Given the description of an element on the screen output the (x, y) to click on. 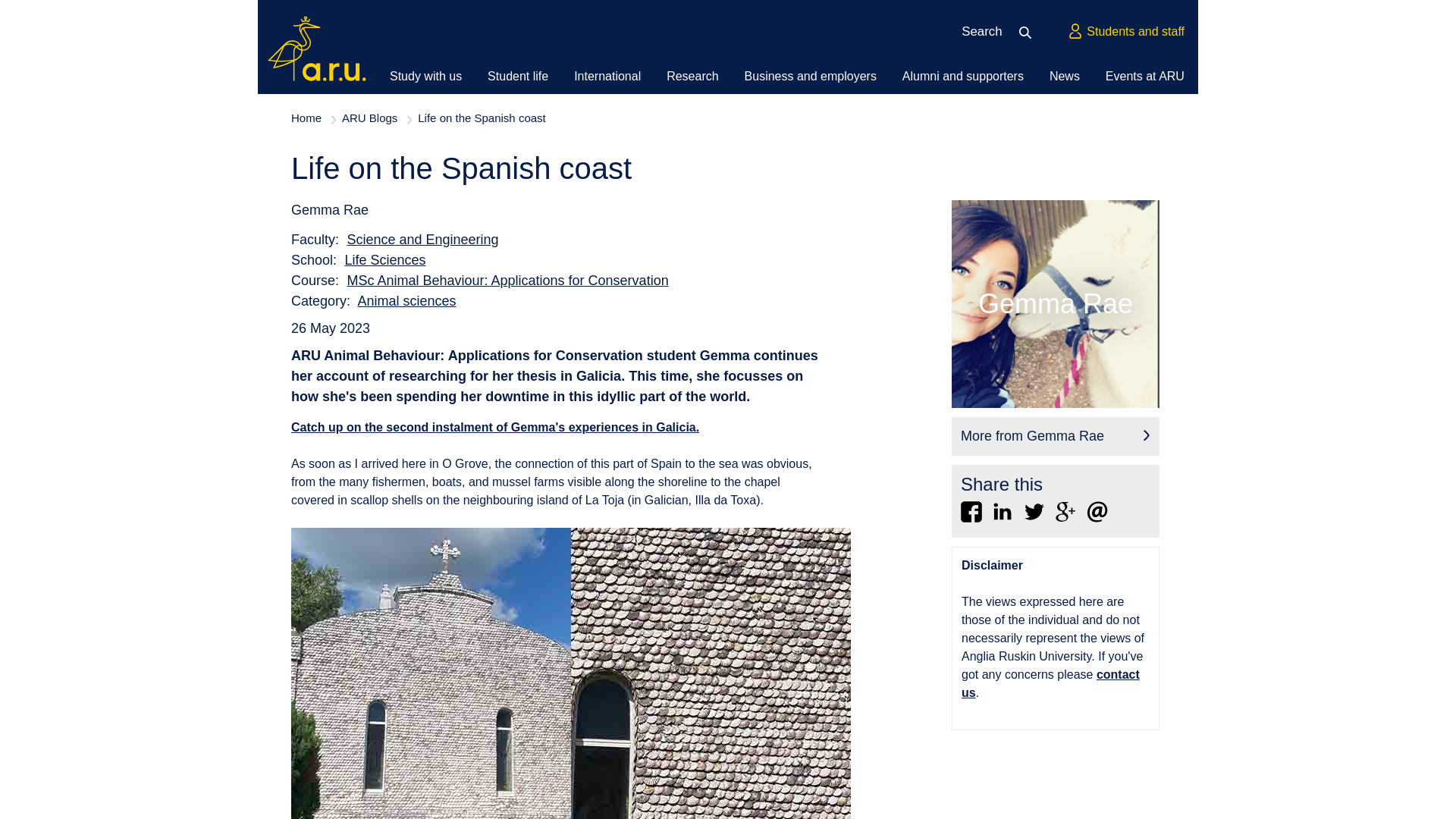
Search the Anglia Ruskin website (1029, 31)
Study with us (425, 76)
Student life (518, 76)
Students and staff (1126, 31)
